Given the description of an element on the screen output the (x, y) to click on. 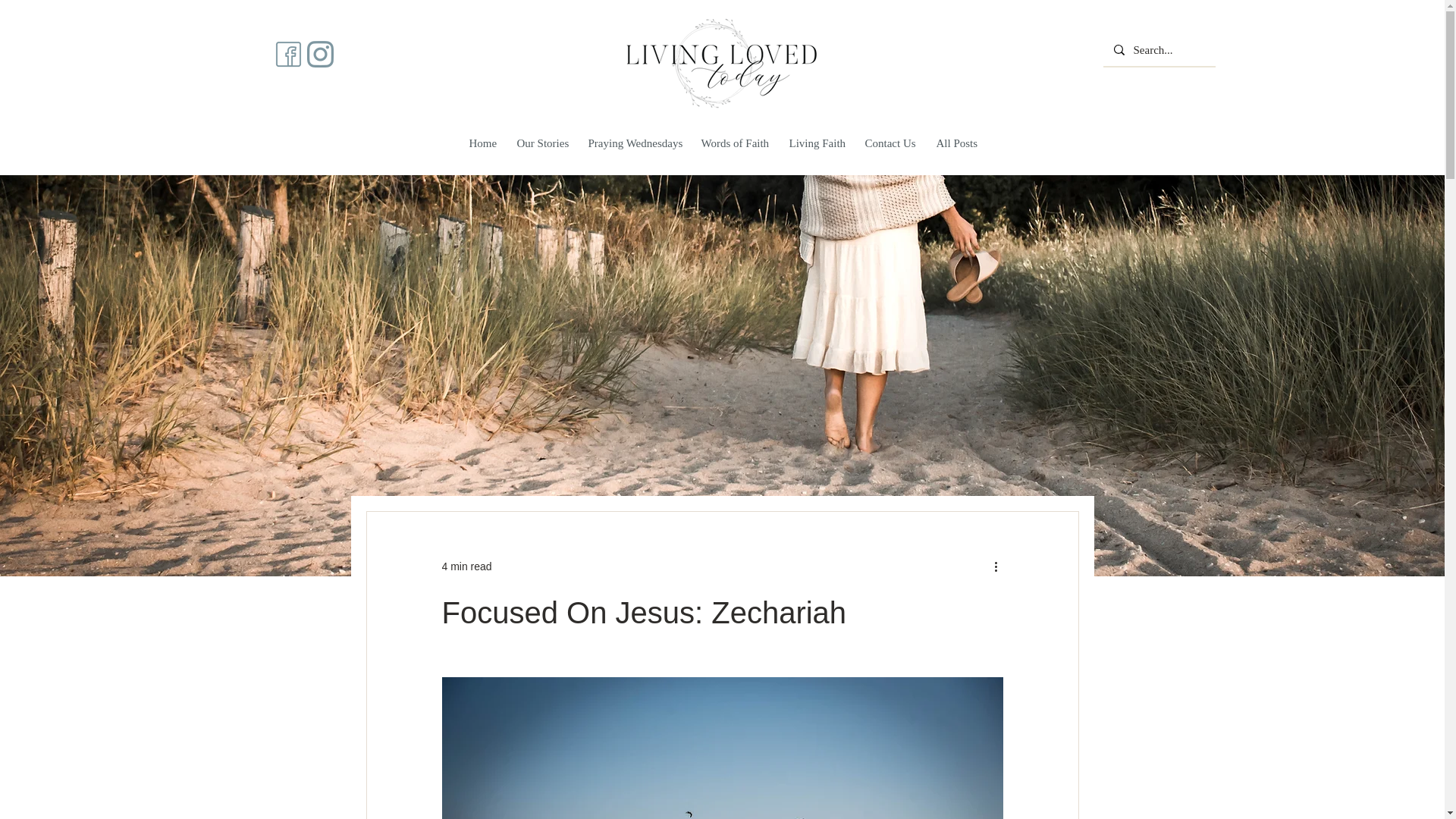
Words of Faith (733, 143)
Praying Wednesdays (634, 143)
4 min read (466, 565)
All Posts (954, 143)
Living Faith (815, 143)
Our Stories (542, 143)
Contact Us (888, 143)
